Given the description of an element on the screen output the (x, y) to click on. 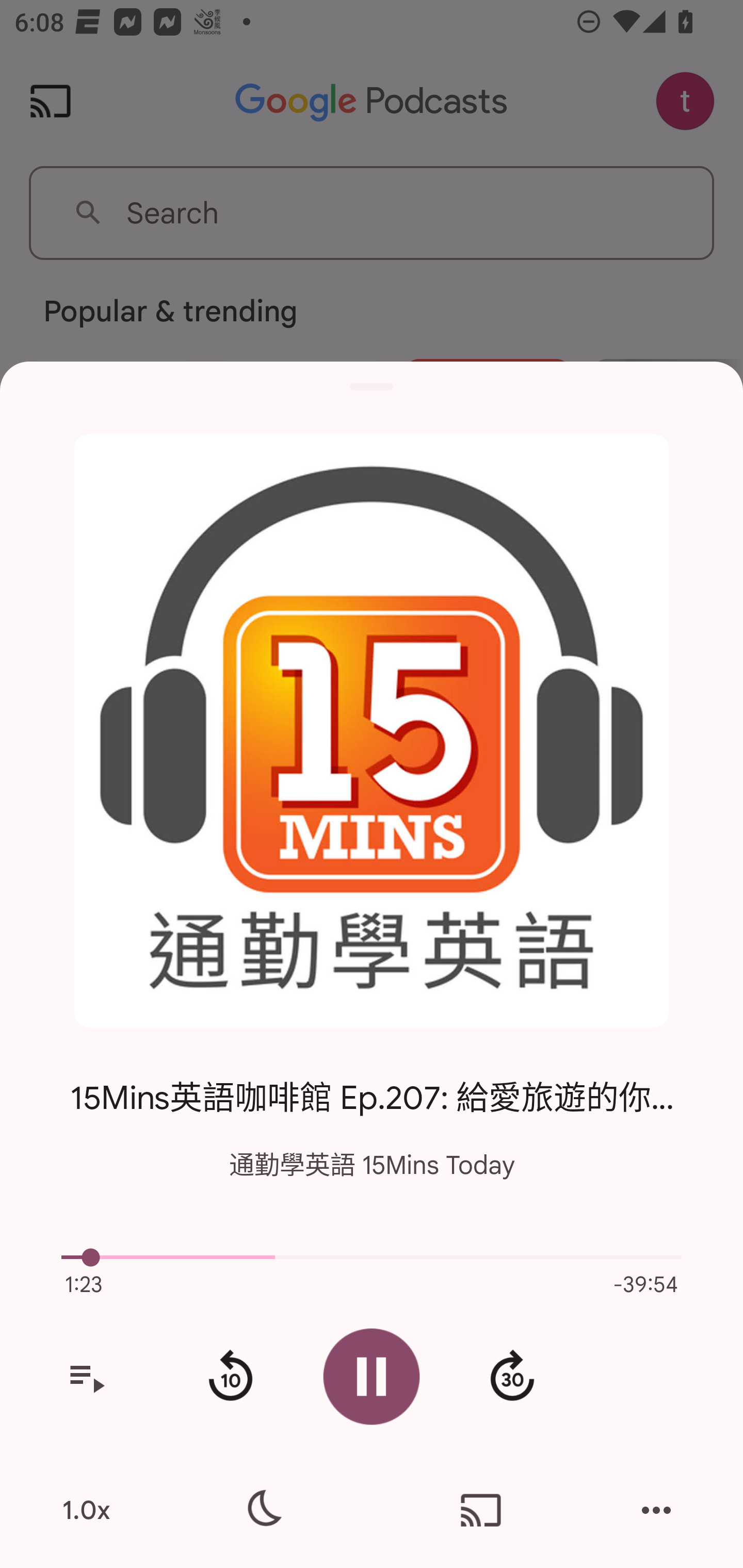
Open the show page for 通勤學英語 15Mins Today (371, 731)
337.0 Current episode playback (371, 1257)
Pause (371, 1376)
View your queue (86, 1376)
Rewind 10 seconds (230, 1376)
Fast forward 30 second (511, 1376)
1.0x Playback speed is 1.0. (86, 1510)
Sleep timer settings (261, 1510)
Cast. Disconnected (480, 1510)
More actions (655, 1510)
